Given the description of an element on the screen output the (x, y) to click on. 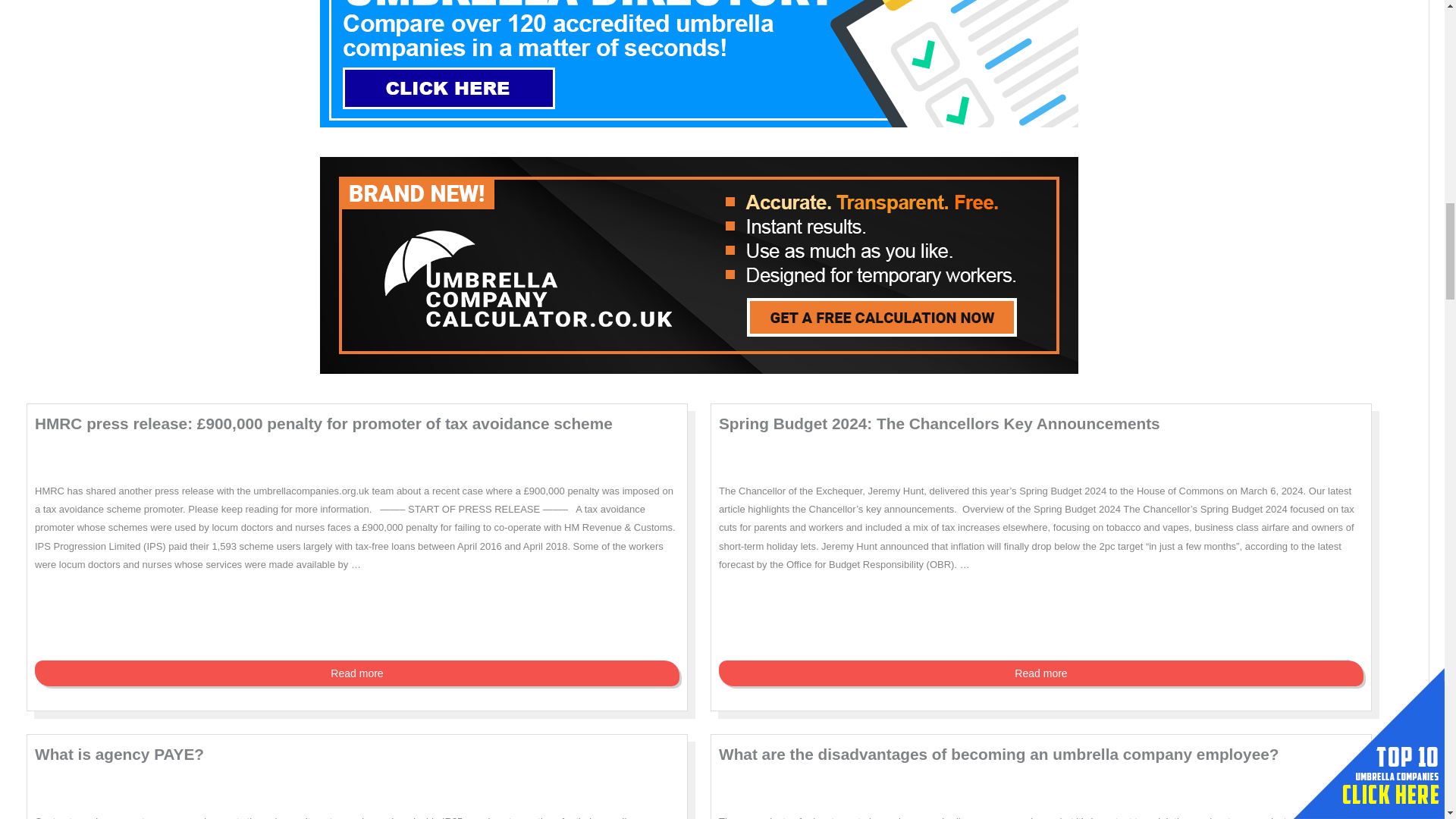
Read more (356, 673)
Read more (1040, 673)
